Given the description of an element on the screen output the (x, y) to click on. 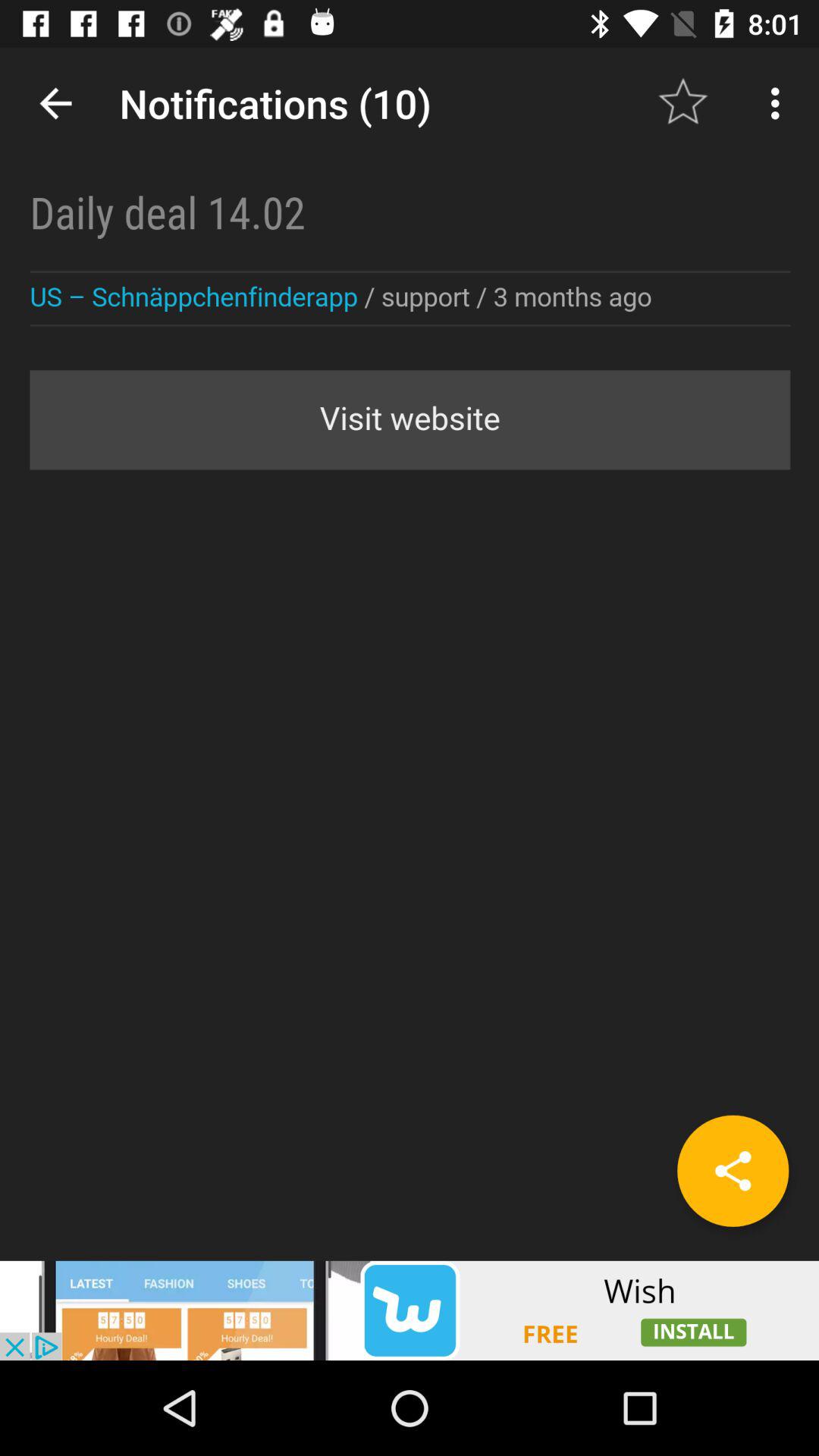
advertisement (409, 1310)
